Given the description of an element on the screen output the (x, y) to click on. 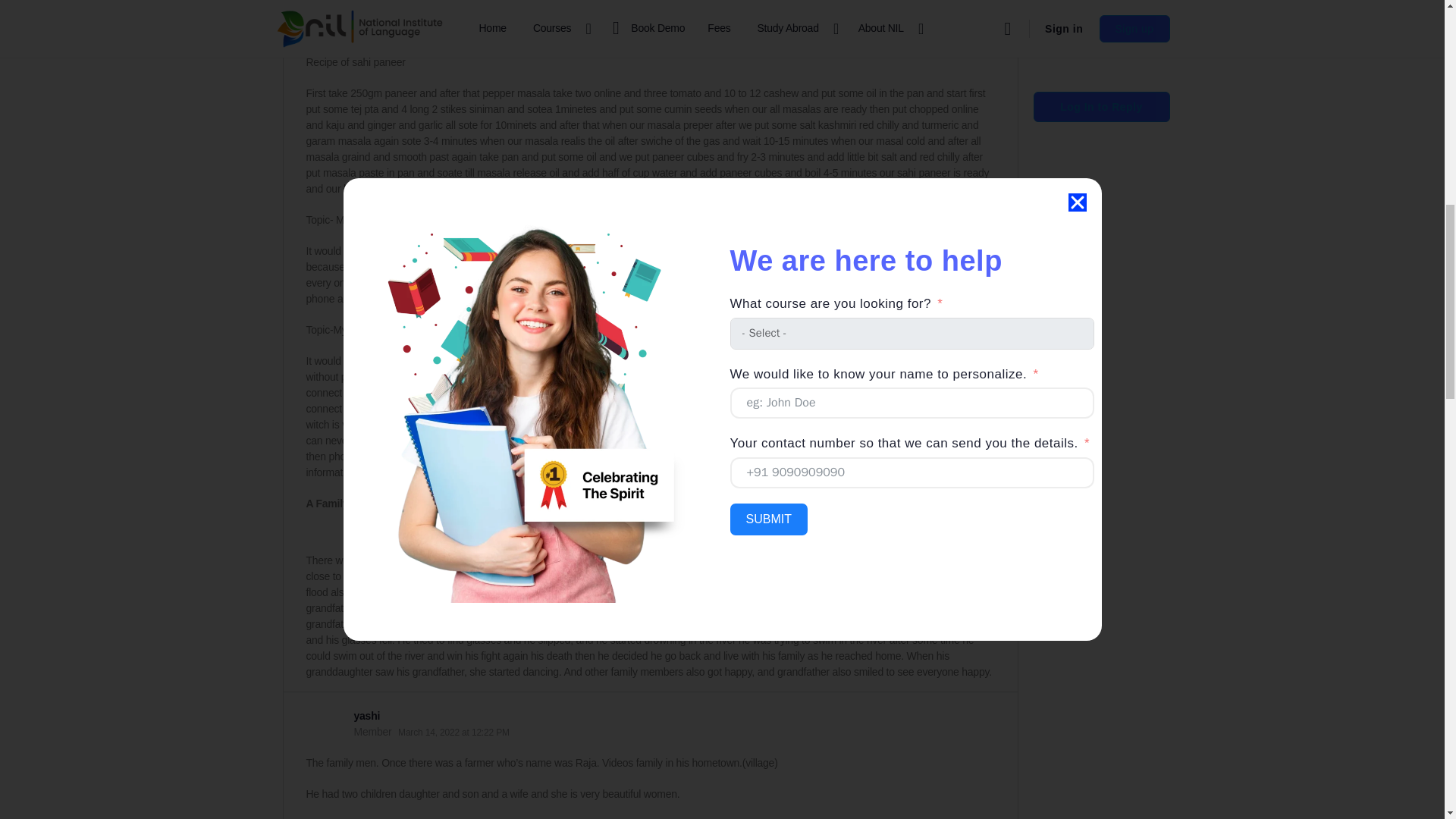
View Shalu's profile (367, 15)
View yashi's profile (366, 715)
View Shalu's profile (323, 21)
View yashi's profile (323, 721)
